Given the description of an element on the screen output the (x, y) to click on. 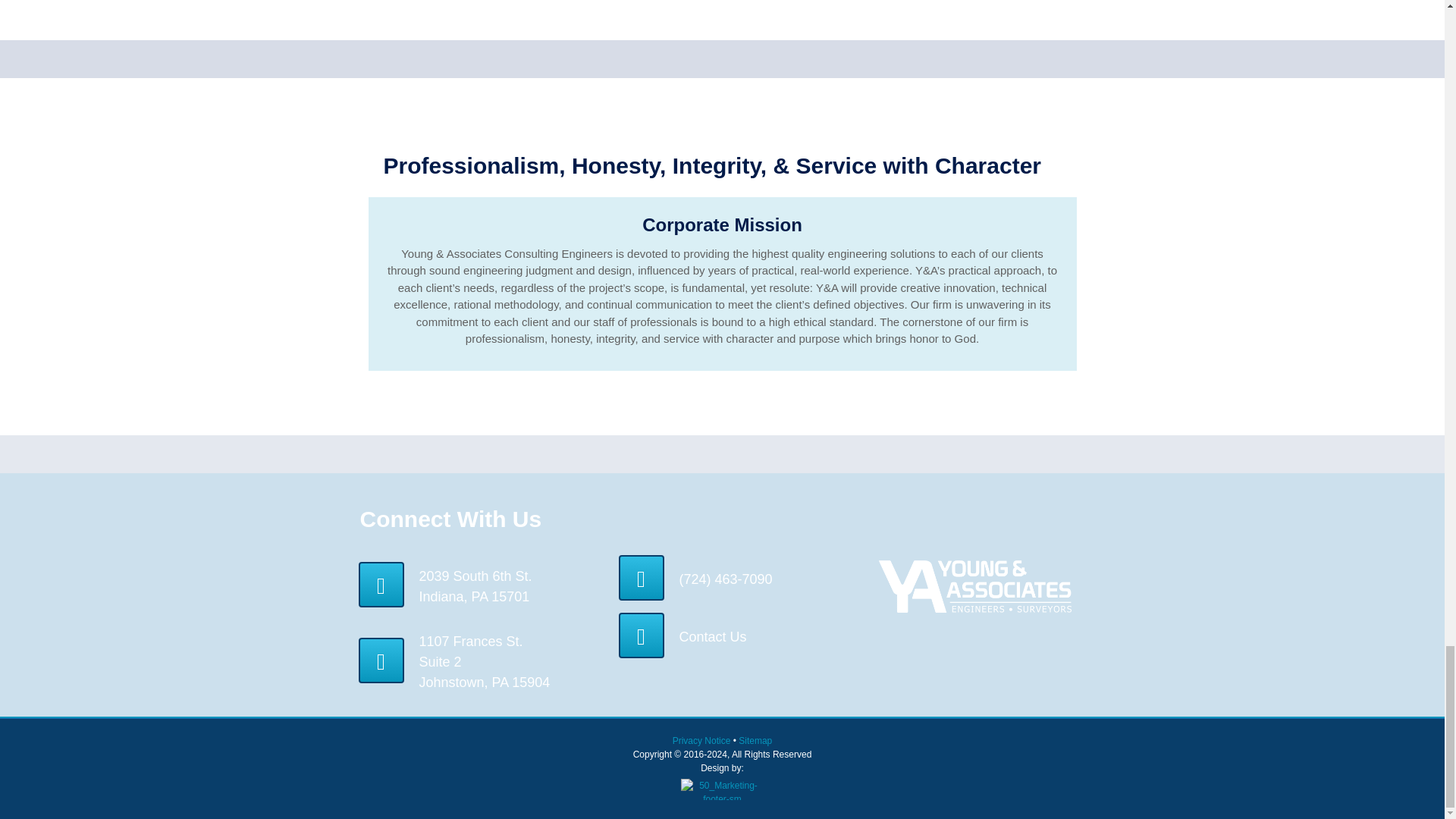
Visit 50 Marketing (721, 789)
Sitemap (754, 740)
YA-logo-final-white (973, 586)
Privacy Notice (702, 740)
